Given the description of an element on the screen output the (x, y) to click on. 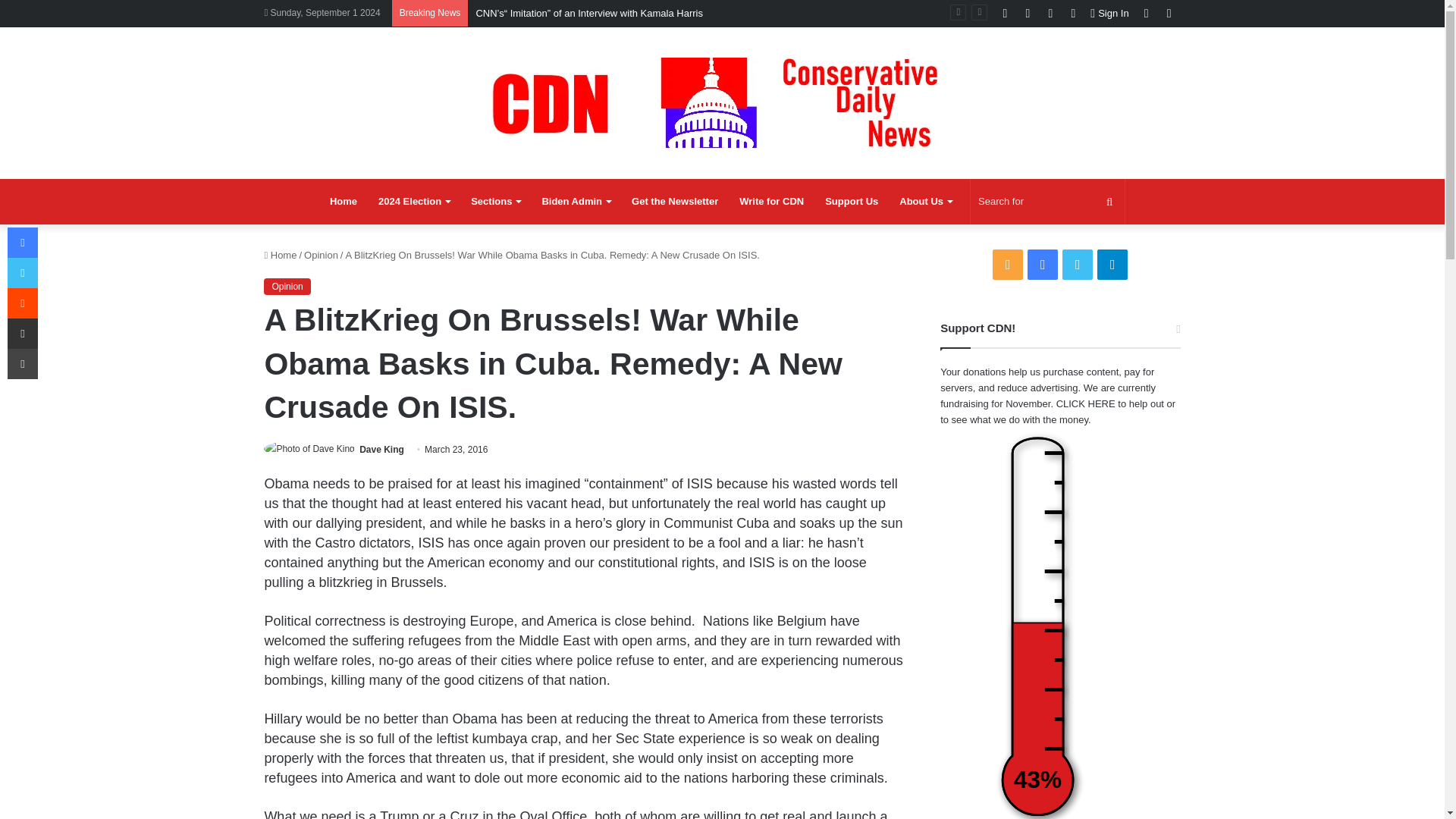
Write for CDN (771, 201)
About Us (925, 201)
Become a CDN Contributor (771, 201)
Support Us (850, 201)
Conservative Daily News (721, 102)
Home (343, 201)
Dave King (381, 449)
Search for (1047, 201)
Sections (495, 201)
Support CDN With a Small Donation (850, 201)
